Given the description of an element on the screen output the (x, y) to click on. 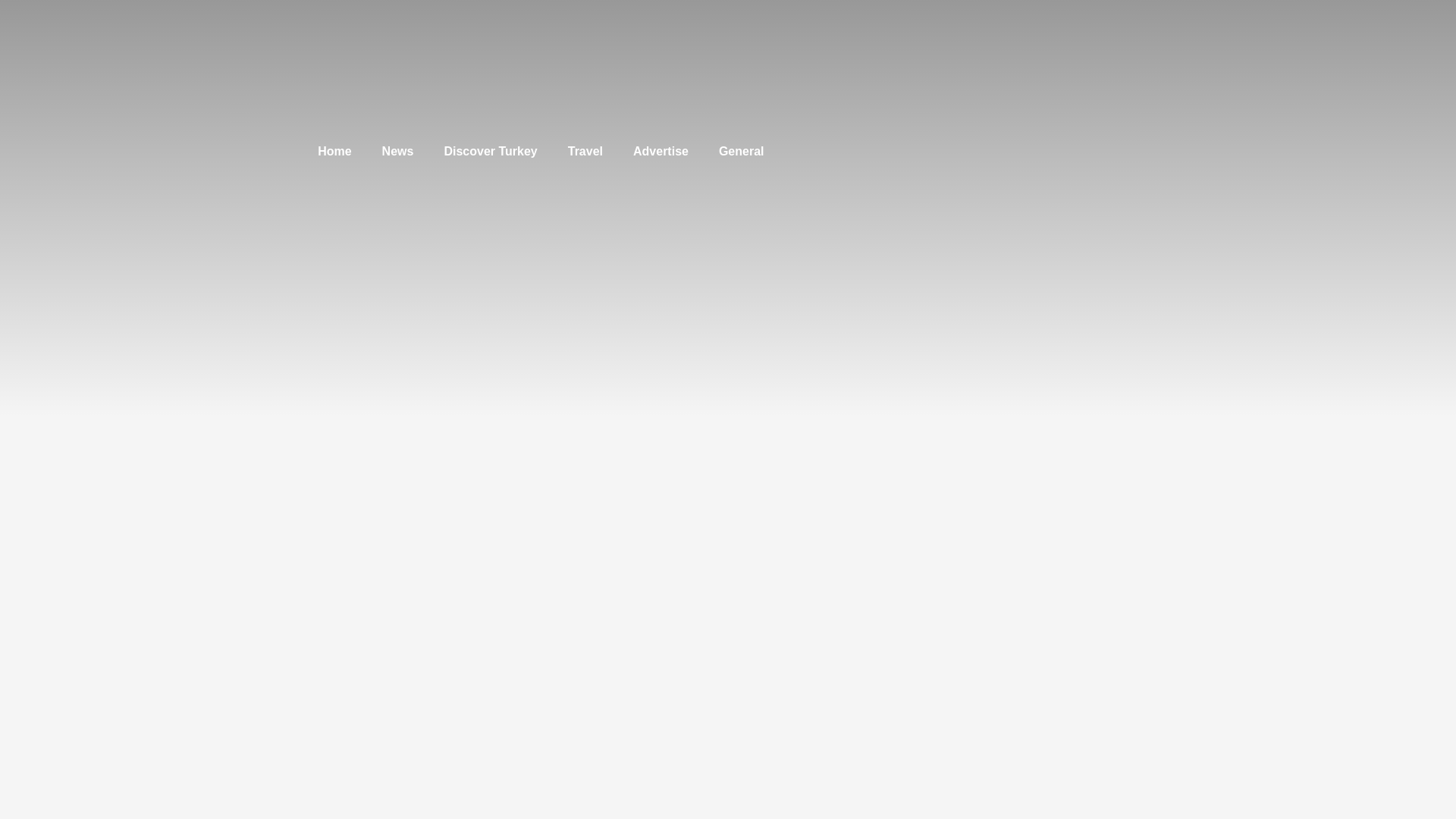
Travel (585, 151)
General (740, 151)
Discover Turkey (489, 151)
News (397, 151)
Advertise (660, 151)
Home (334, 151)
